Given the description of an element on the screen output the (x, y) to click on. 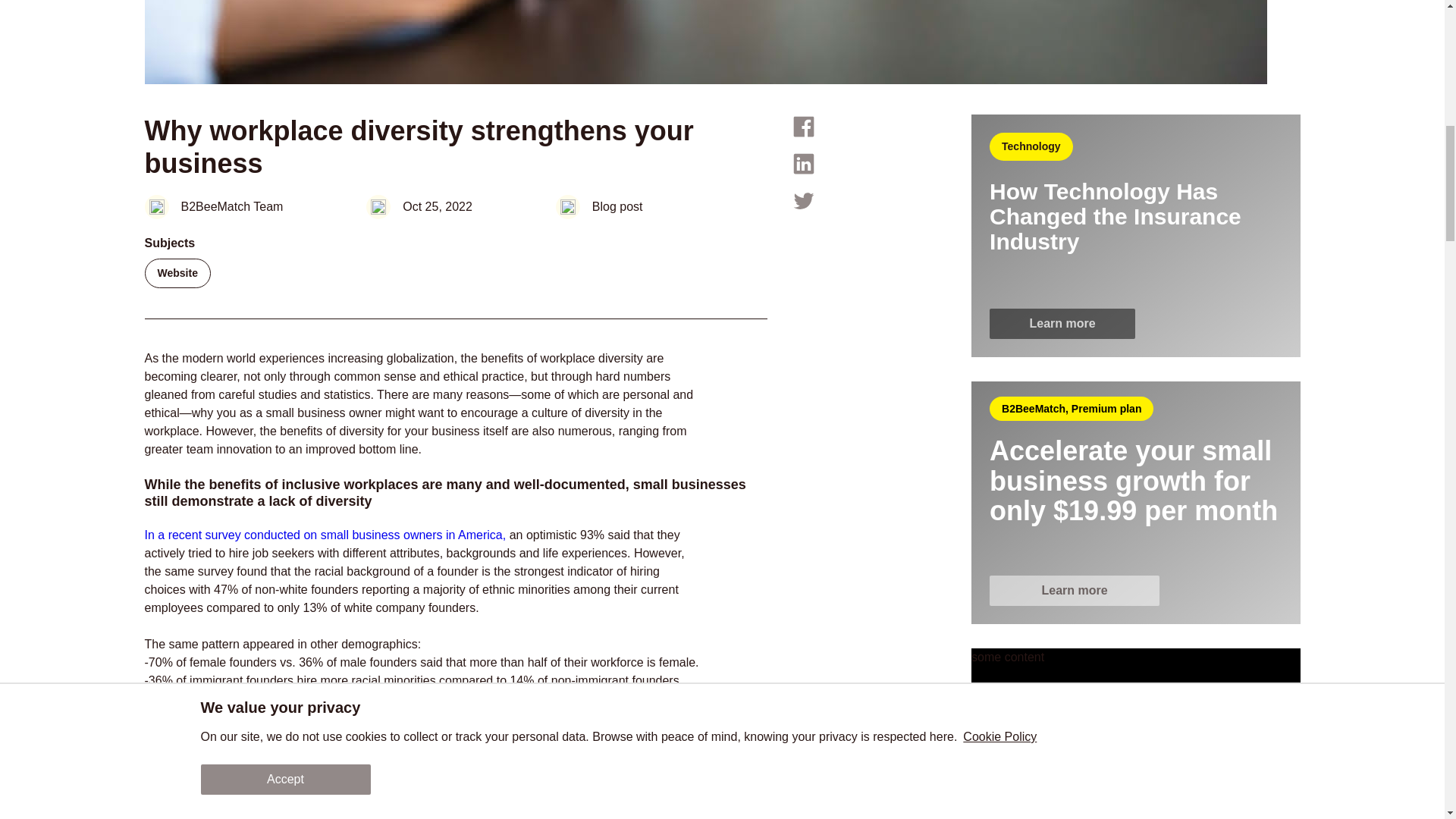
Learn more (1074, 590)
Learn more (1062, 323)
Learn more (1135, 590)
Learn more (1061, 323)
some content (1135, 733)
